Given the description of an element on the screen output the (x, y) to click on. 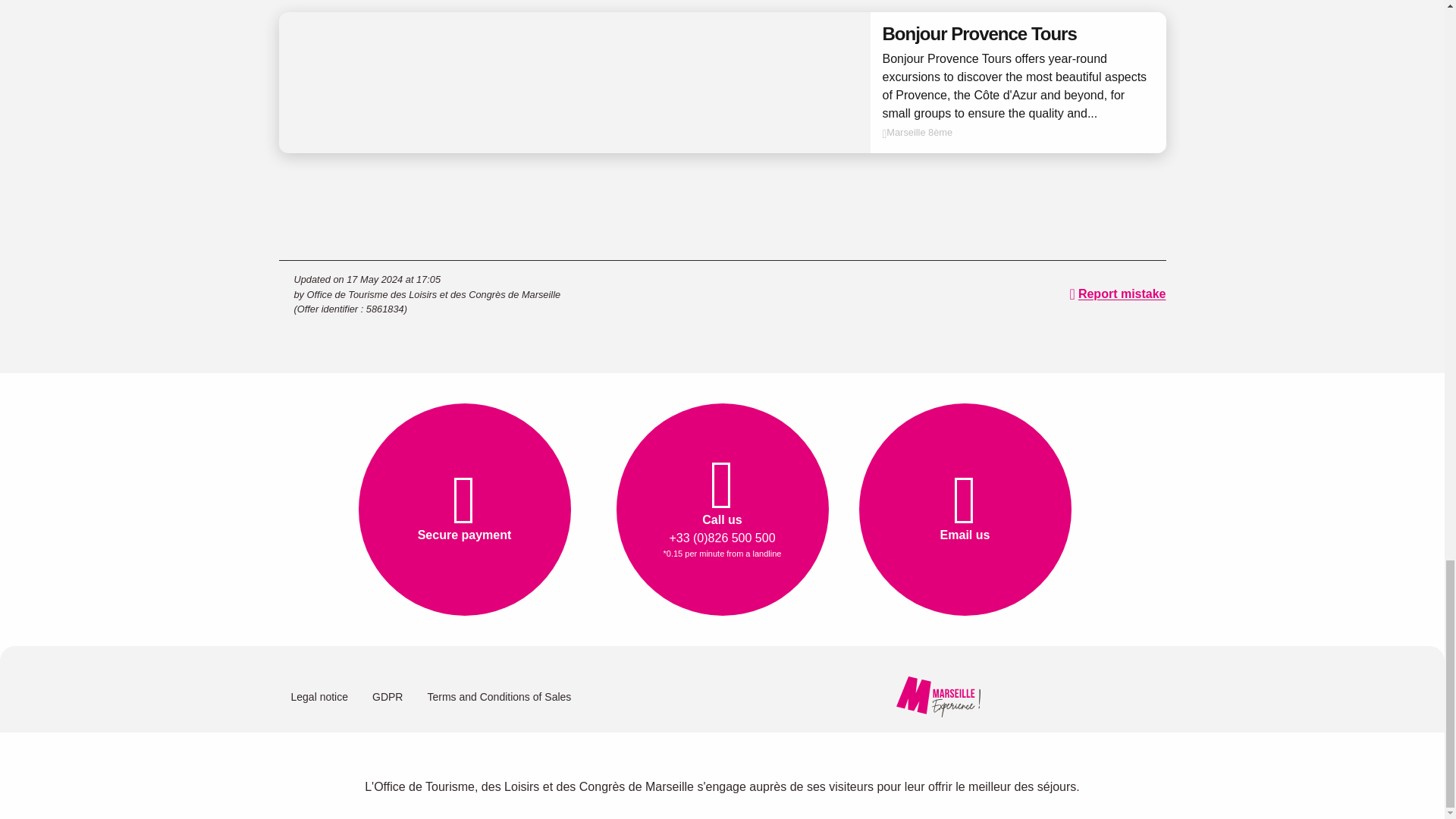
Email us (964, 509)
Report mistake (1118, 293)
